Given the description of an element on the screen output the (x, y) to click on. 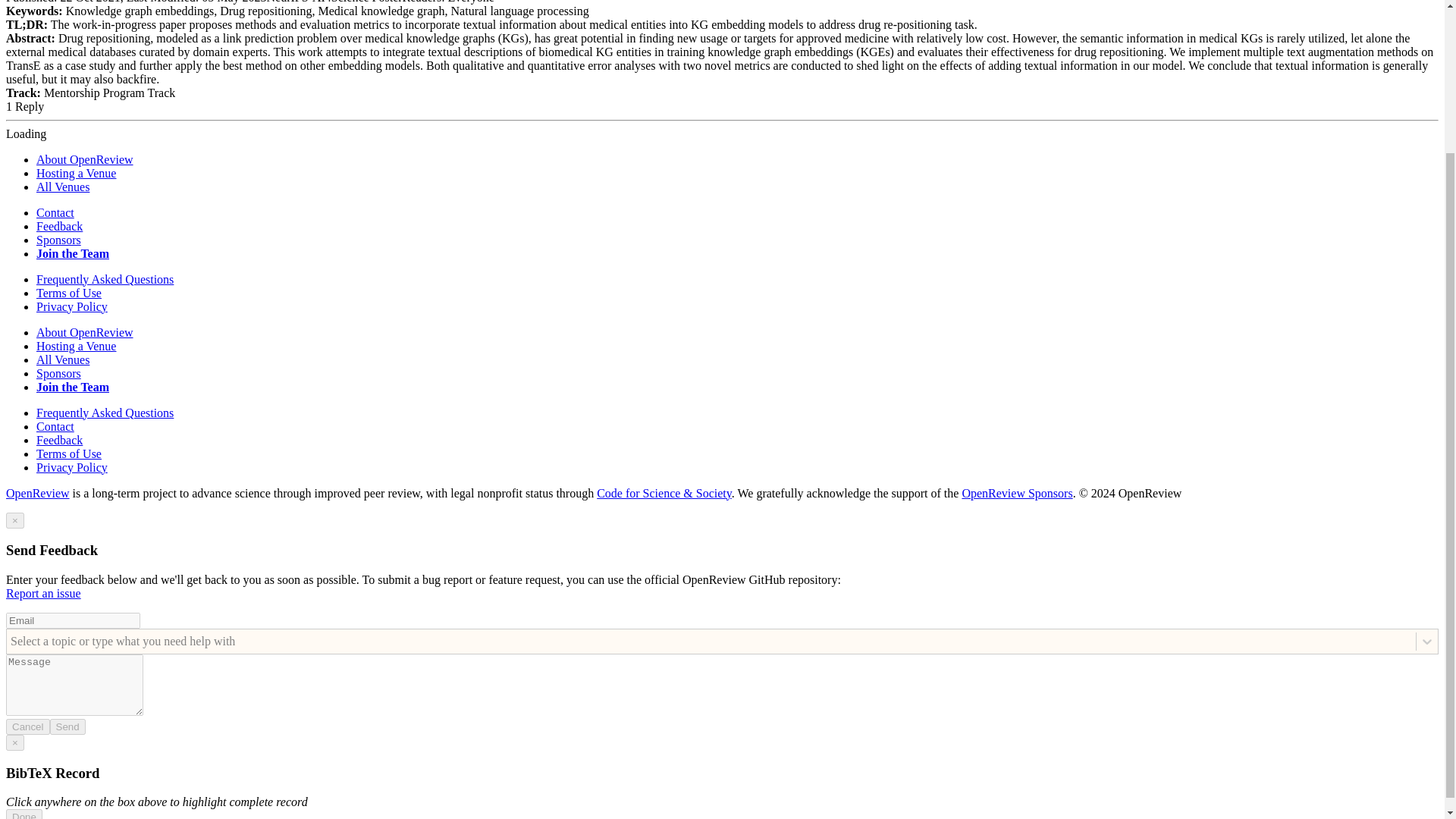
Join the Team (72, 386)
About OpenReview (84, 332)
Privacy Policy (71, 306)
OpenReview Sponsors (1015, 492)
Contact (55, 212)
Cancel (27, 726)
All Venues (62, 186)
Sponsors (58, 239)
Hosting a Venue (76, 173)
Feedback (59, 226)
OpenReview (37, 492)
Sponsors (58, 373)
Contact (55, 426)
About OpenReview (84, 159)
Frequently Asked Questions (104, 412)
